Given the description of an element on the screen output the (x, y) to click on. 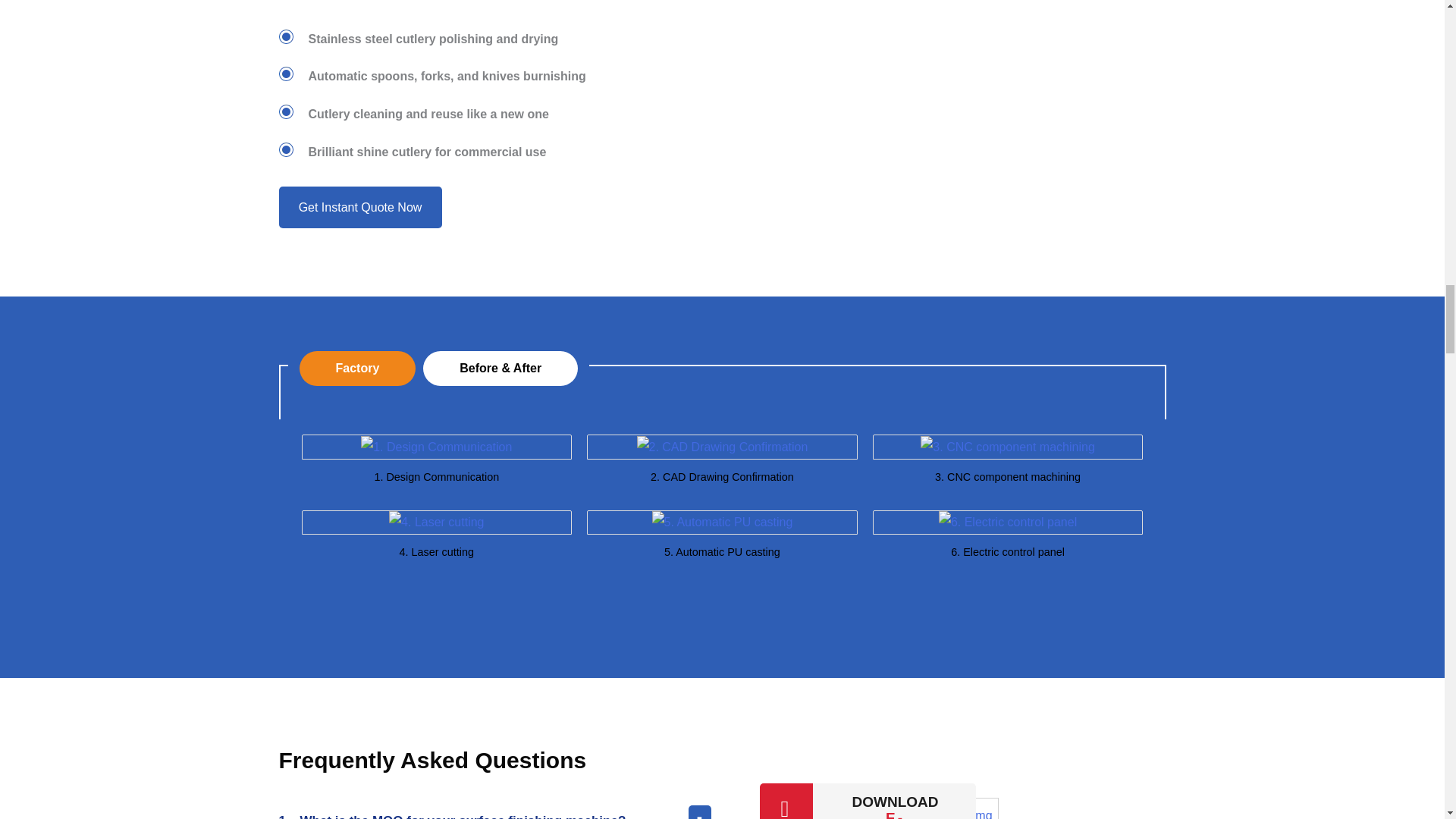
3. CNC component machining (1007, 445)
Cutlery polishing machine video (949, 95)
2. CAD Drawing Confirmation (722, 445)
6. Electric control panel (1008, 521)
5. Automatic PU casting (722, 521)
4. Laser cutting (435, 521)
1. Design Communication (436, 445)
